Given the description of an element on the screen output the (x, y) to click on. 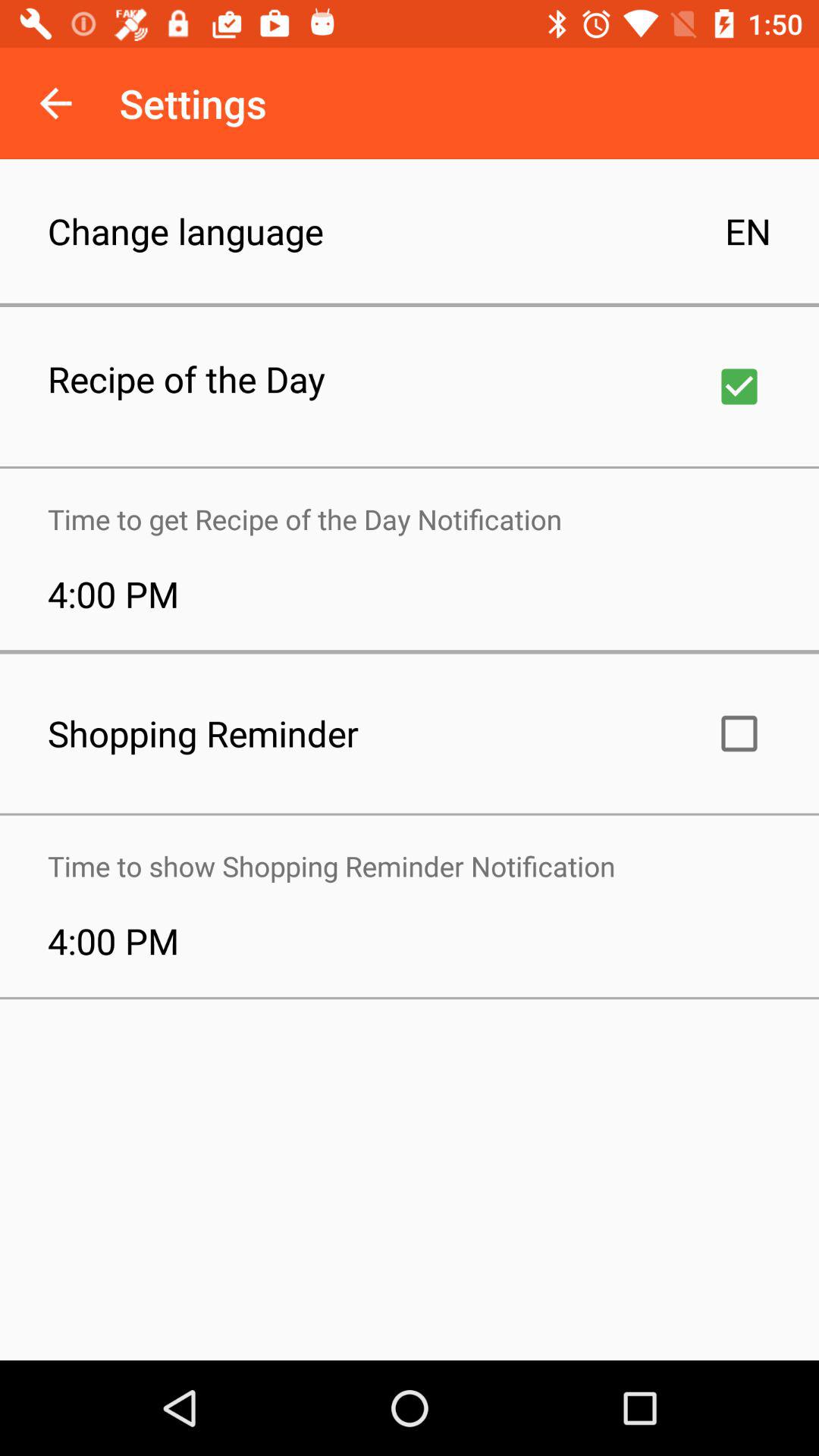
launch the icon above the change language item (55, 103)
